Given the description of an element on the screen output the (x, y) to click on. 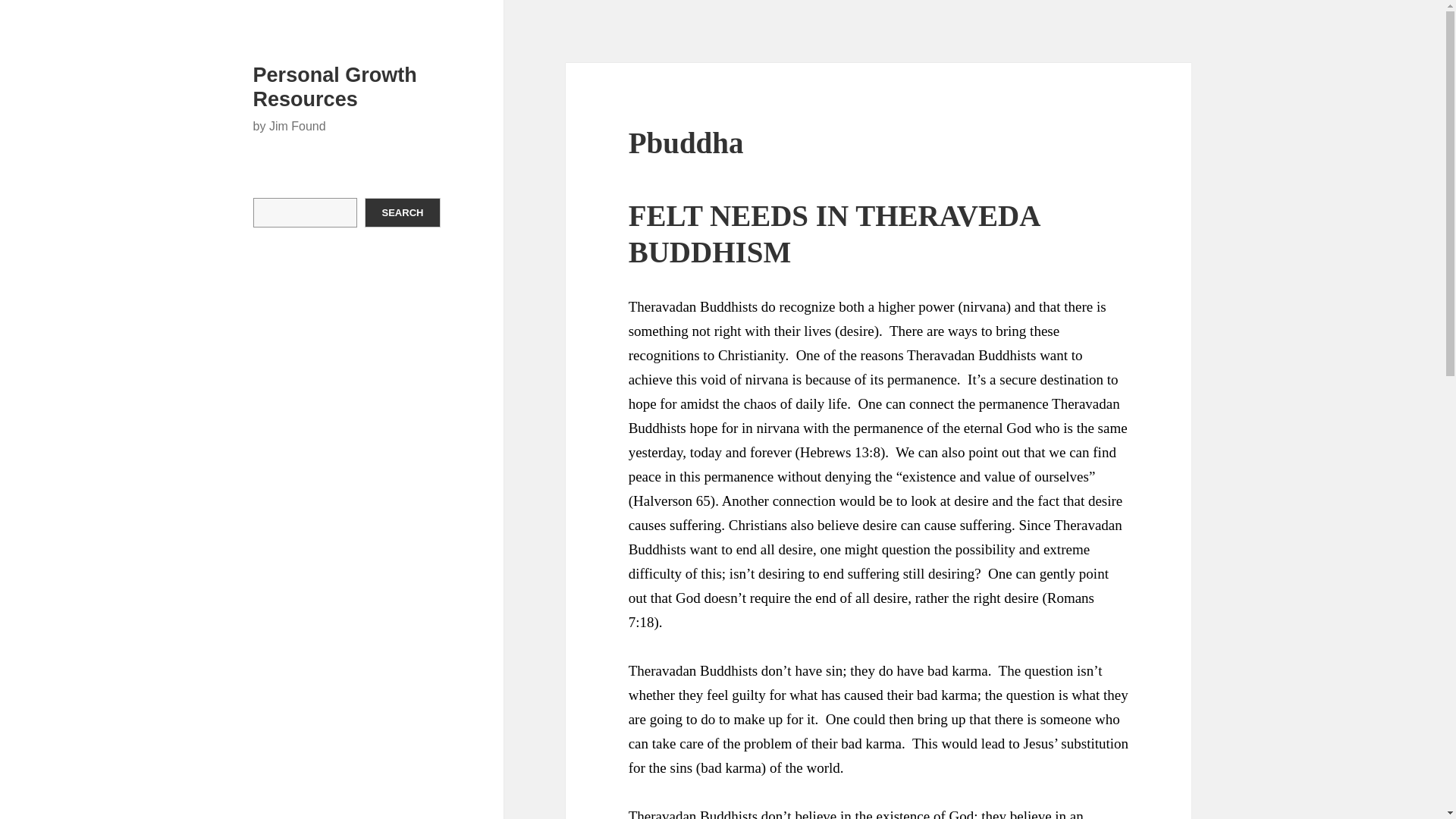
SEARCH (403, 212)
Personal Growth Resources (334, 86)
